Given the description of an element on the screen output the (x, y) to click on. 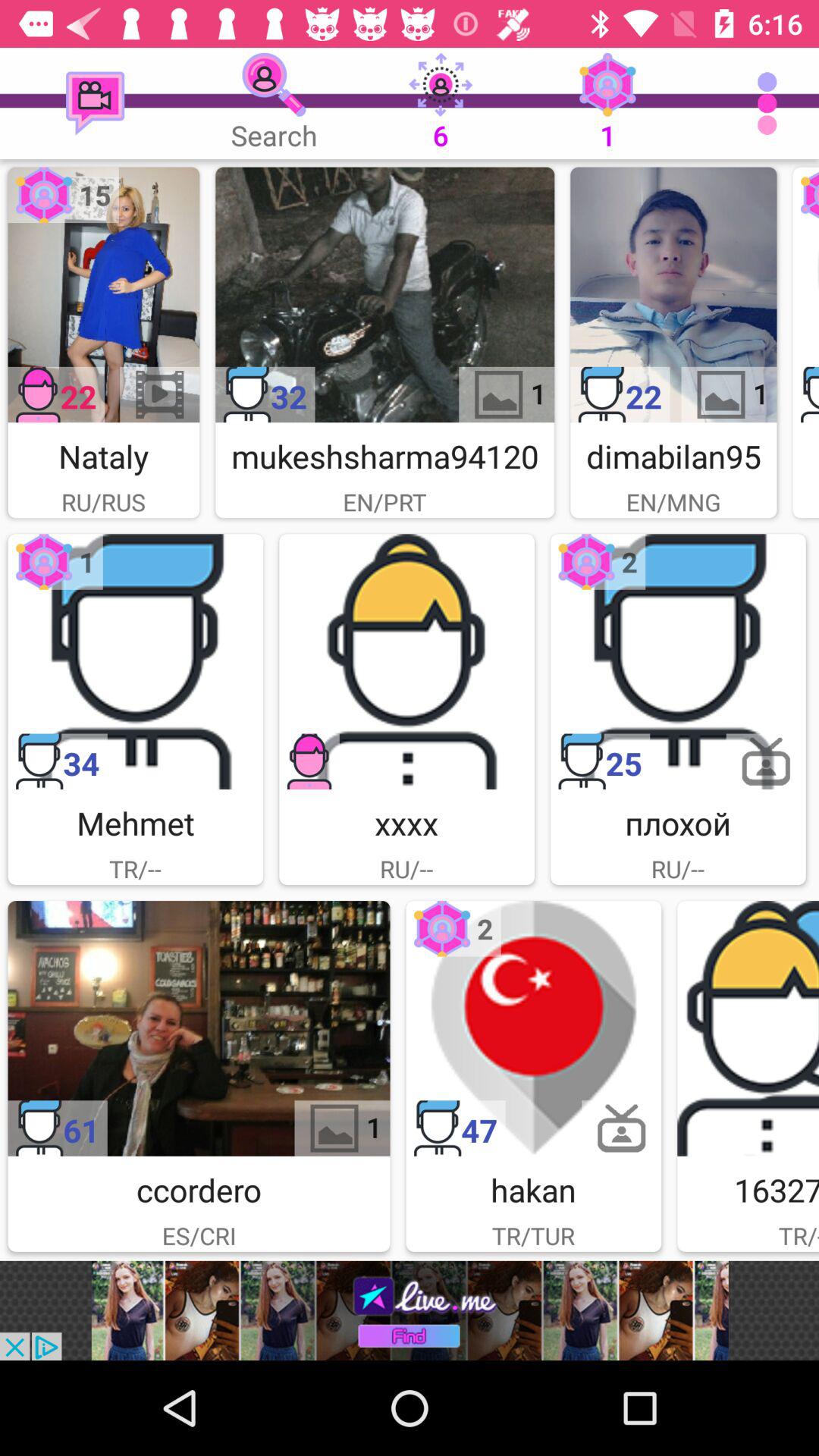
select this tile (533, 1028)
